Given the description of an element on the screen output the (x, y) to click on. 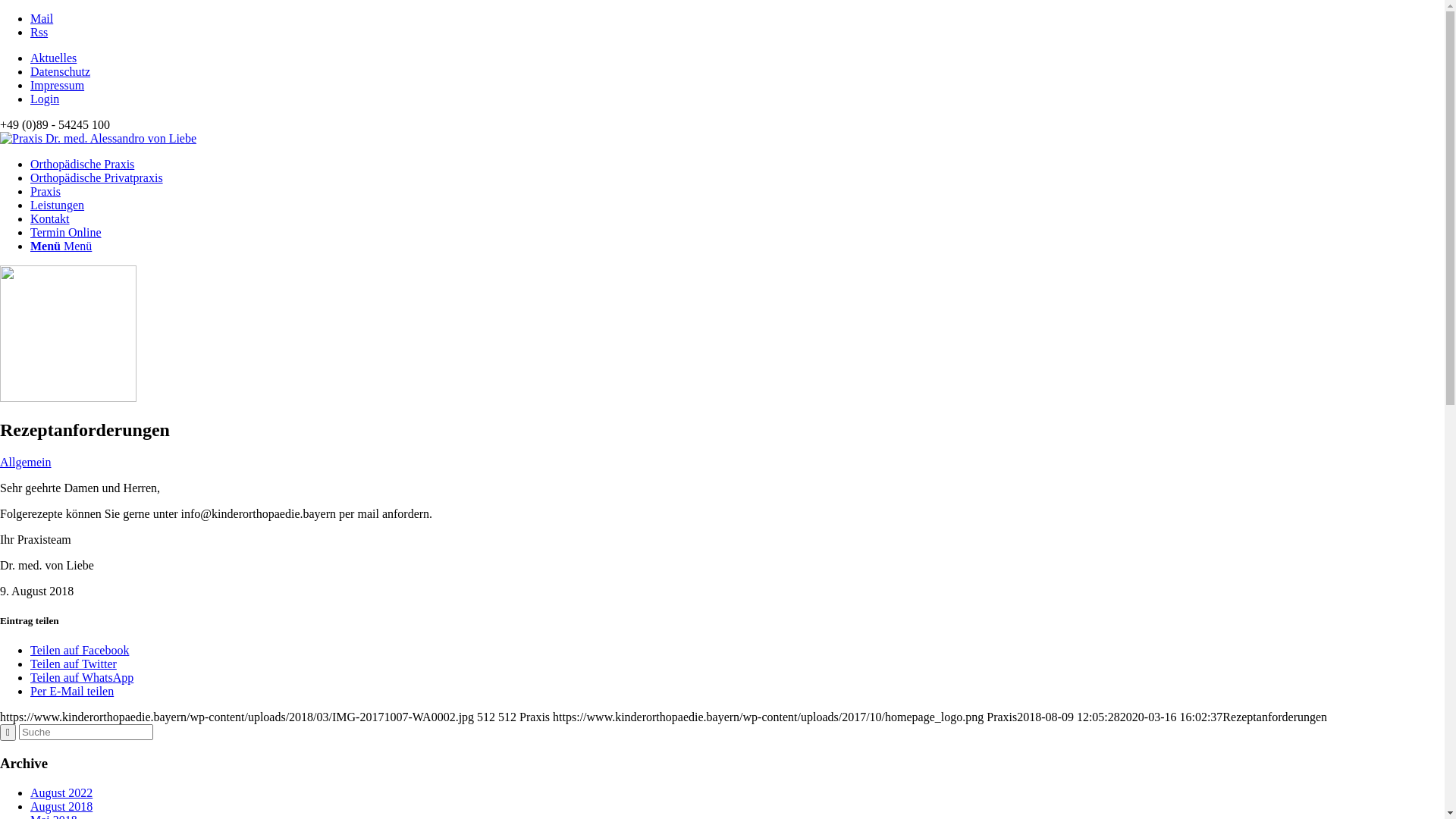
August 2018 Element type: text (61, 806)
logo Element type: hover (98, 137)
IMG-20171007-WA0002 Element type: hover (68, 397)
Impressum Element type: text (57, 84)
logo Element type: hover (98, 138)
Termin Online Element type: text (65, 231)
Aktuelles Element type: text (53, 57)
Allgemein Element type: text (25, 461)
Mail Element type: text (41, 18)
Per E-Mail teilen Element type: text (71, 690)
Teilen auf WhatsApp Element type: text (81, 677)
August 2022 Element type: text (61, 792)
Teilen auf Twitter Element type: text (73, 663)
Kontakt Element type: text (49, 218)
Praxis Element type: text (45, 191)
Datenschutz Element type: text (60, 71)
Rss Element type: text (38, 31)
Leistungen Element type: text (57, 204)
Teilen auf Facebook Element type: text (79, 649)
Login Element type: text (44, 98)
